Given the description of an element on the screen output the (x, y) to click on. 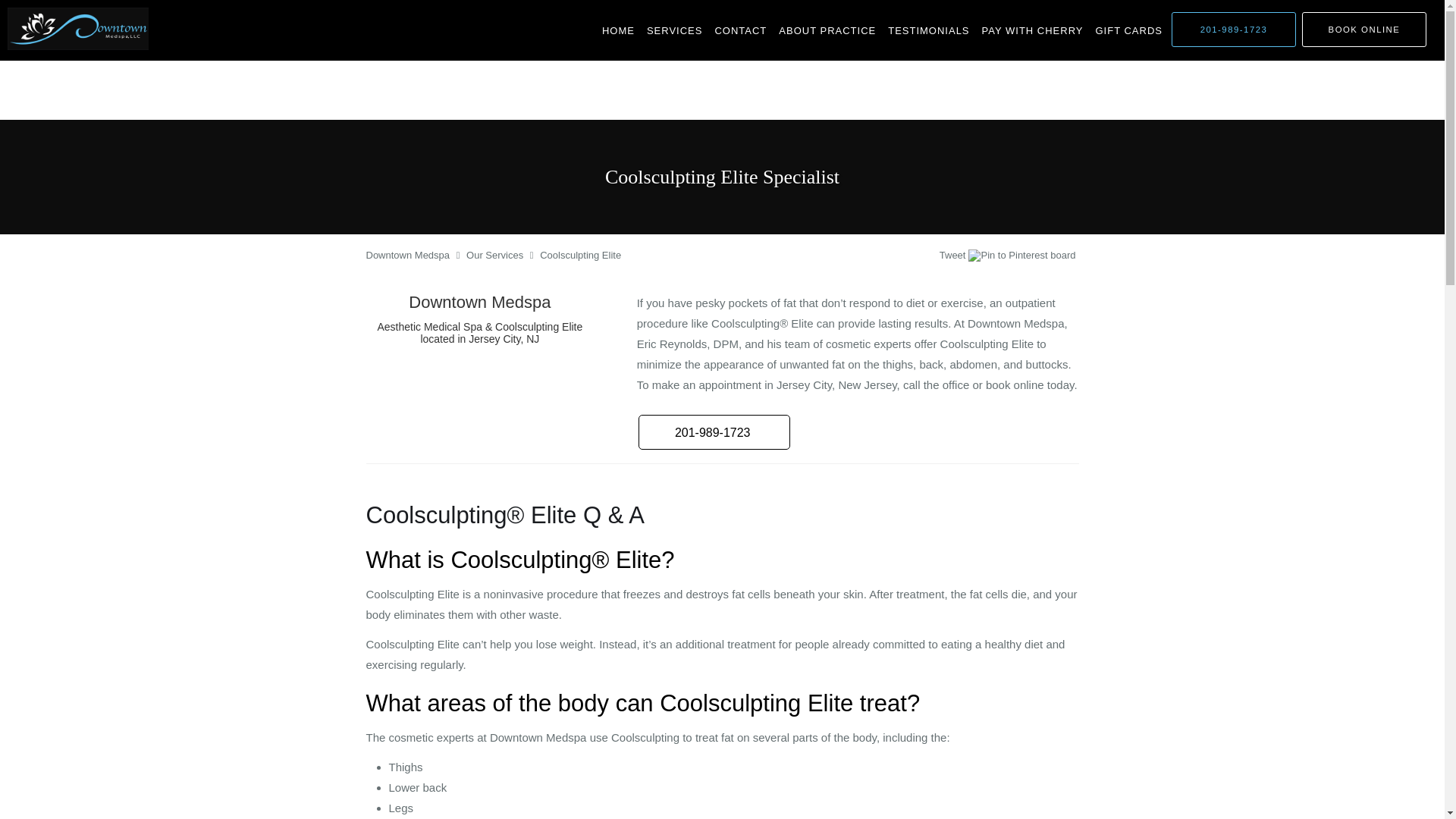
ABOUT PRACTICE (827, 30)
Facebook social button (880, 257)
PAY WITH CHERRY (1032, 30)
Skip to main content (74, 7)
BOOK ONLINE (1363, 29)
TESTIMONIALS (928, 30)
201-989-1723 (1233, 29)
GIFT CARDS (1129, 30)
CONTACT (740, 30)
SERVICES (674, 30)
